Given the description of an element on the screen output the (x, y) to click on. 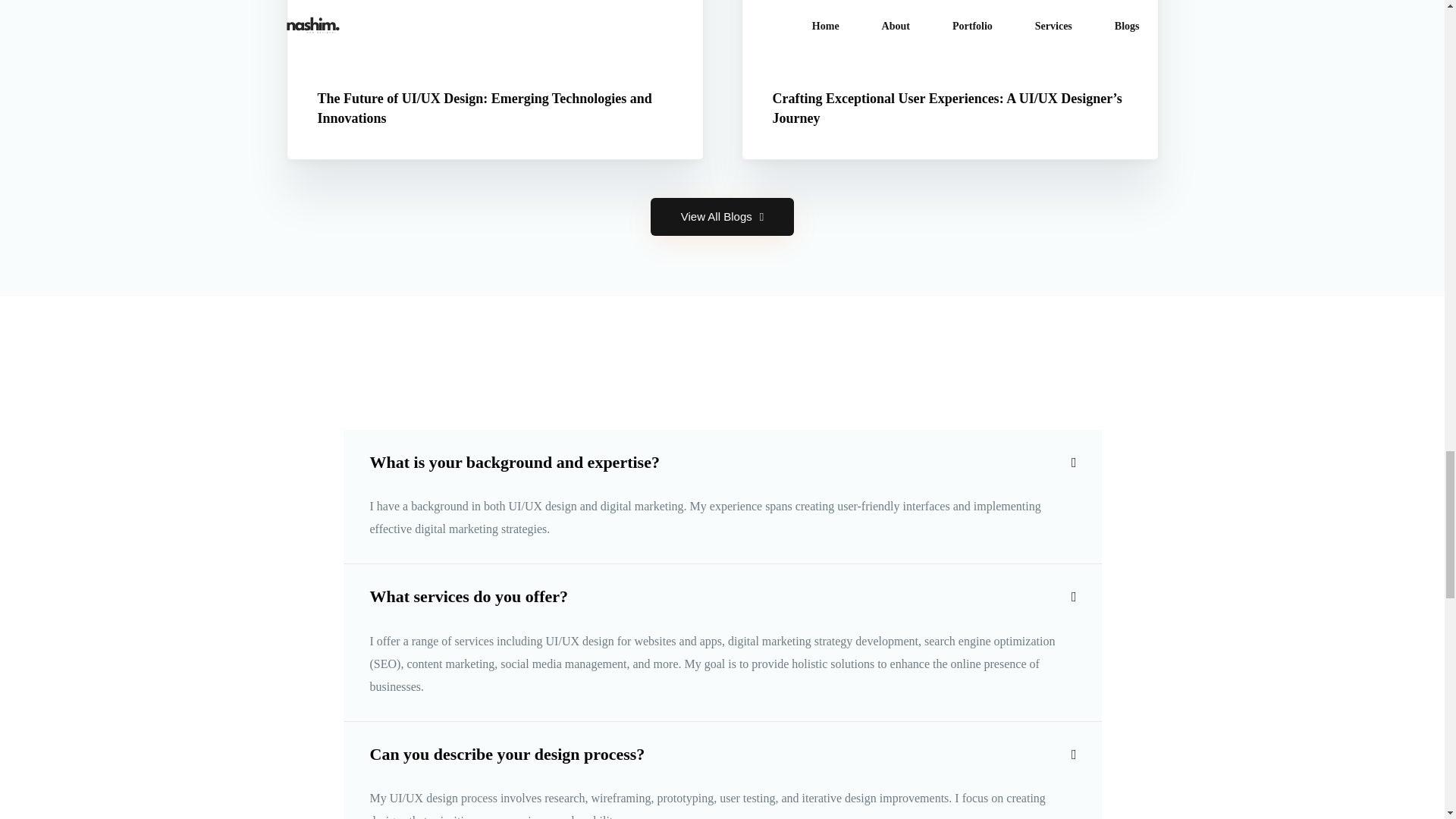
View All Blogs (721, 216)
